Given the description of an element on the screen output the (x, y) to click on. 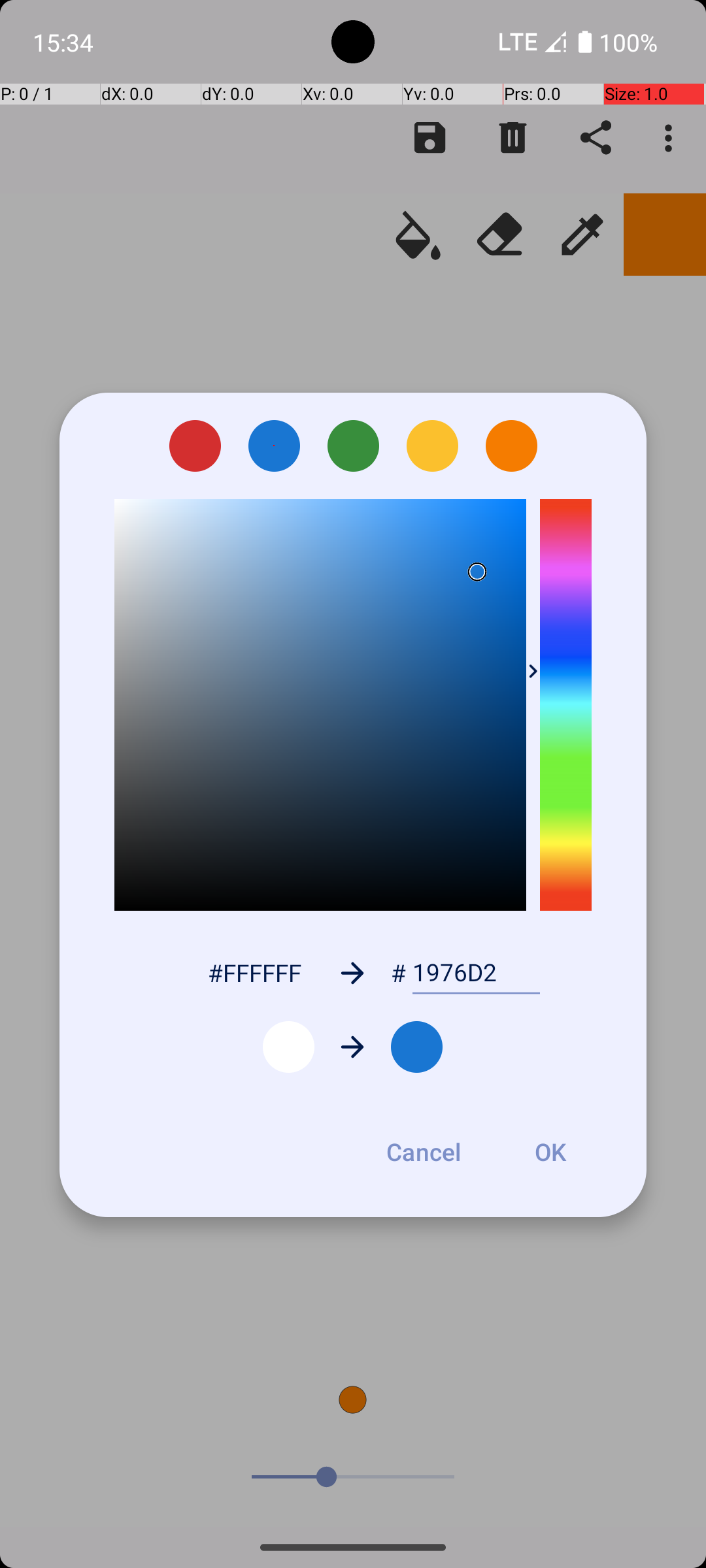
#FFFFFF Element type: android.widget.TextView (254, 972)
1976D2 Element type: android.widget.EditText (475, 972)
